Given the description of an element on the screen output the (x, y) to click on. 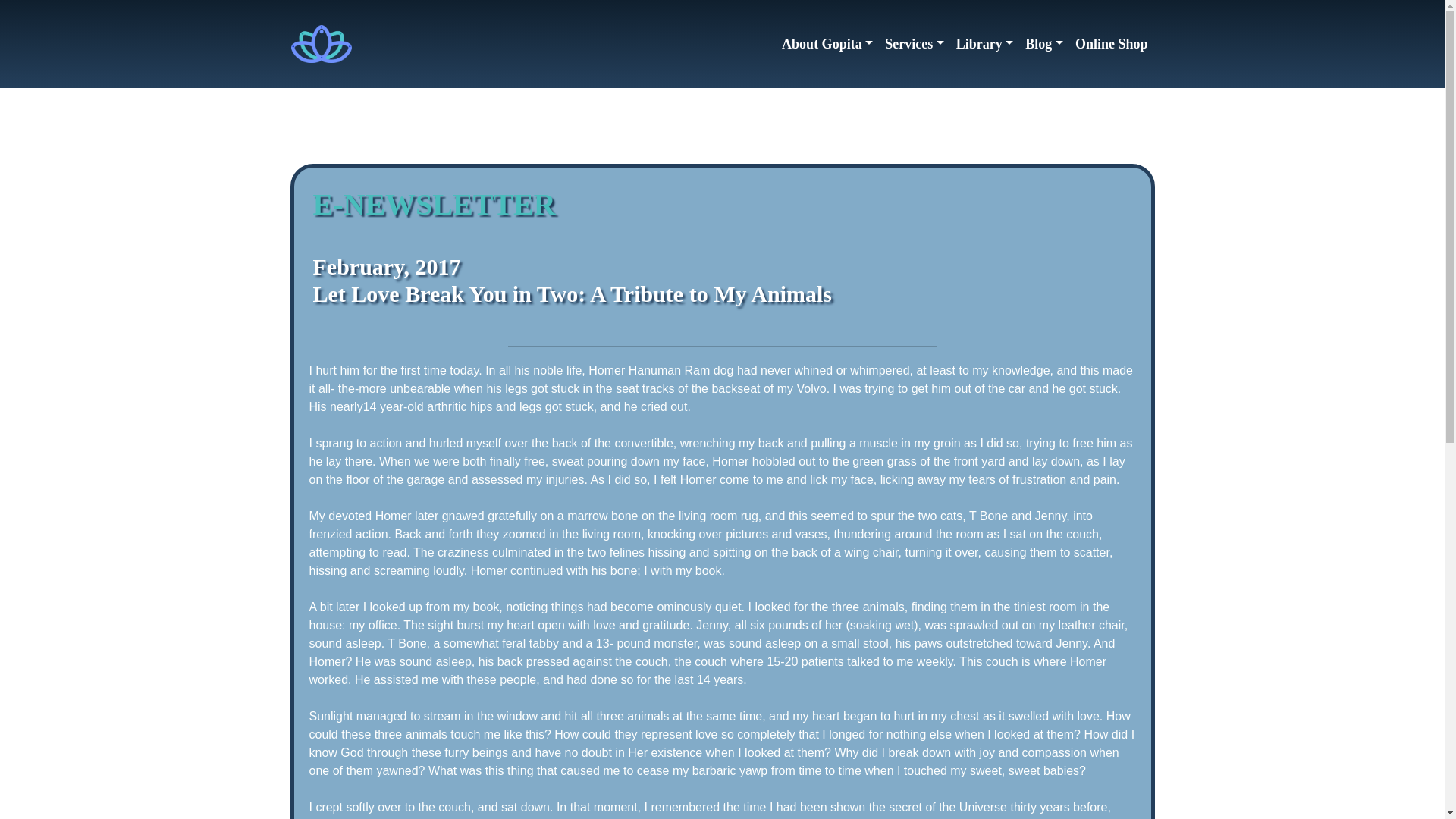
Online Shop (1111, 43)
Blog (1043, 43)
Library (985, 43)
About Gopita (827, 43)
Services (914, 43)
